Given the description of an element on the screen output the (x, y) to click on. 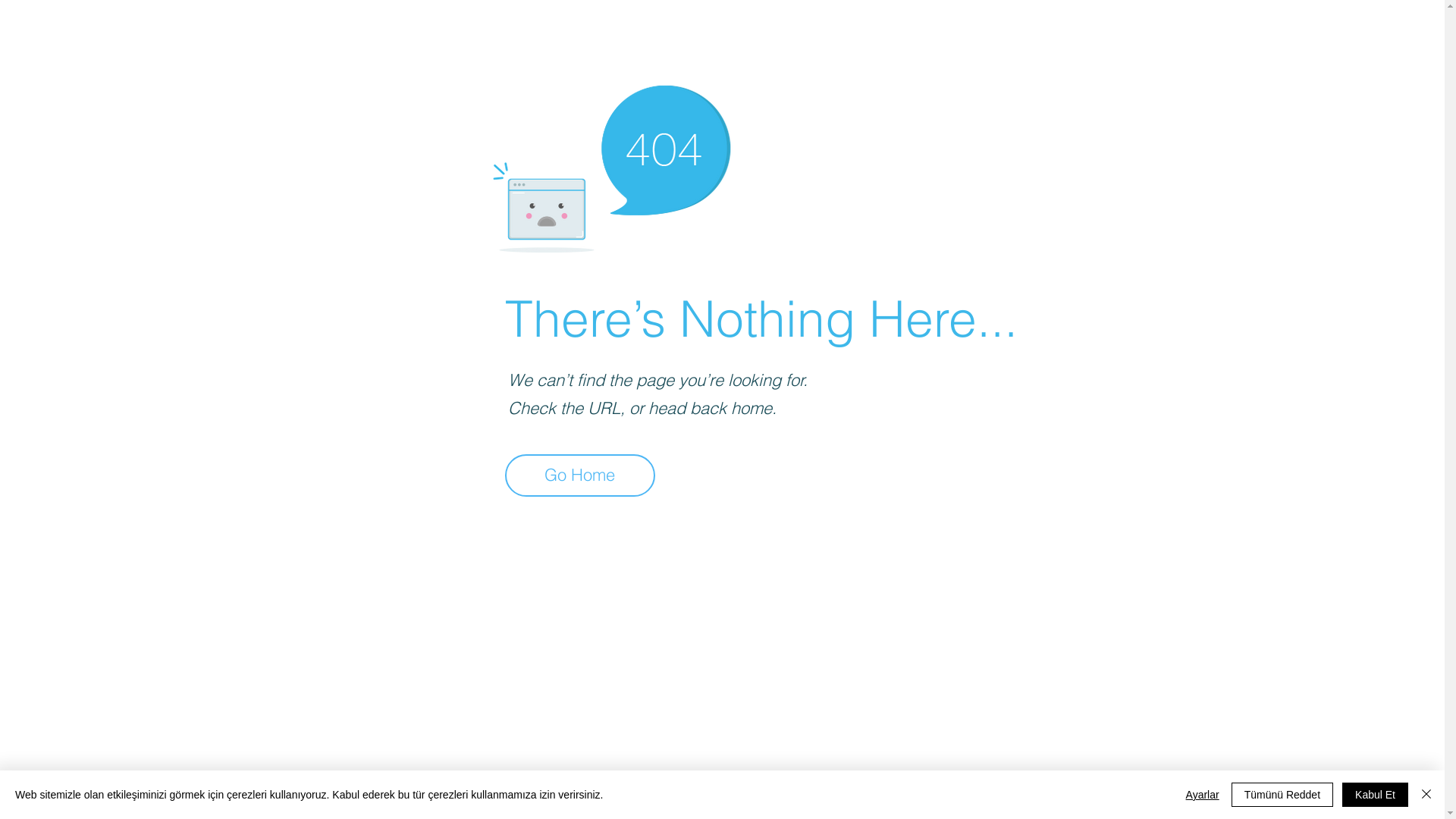
Kabul Et Element type: text (1375, 794)
Go Home Element type: text (580, 475)
404-icon_2.png Element type: hover (610, 164)
